Given the description of an element on the screen output the (x, y) to click on. 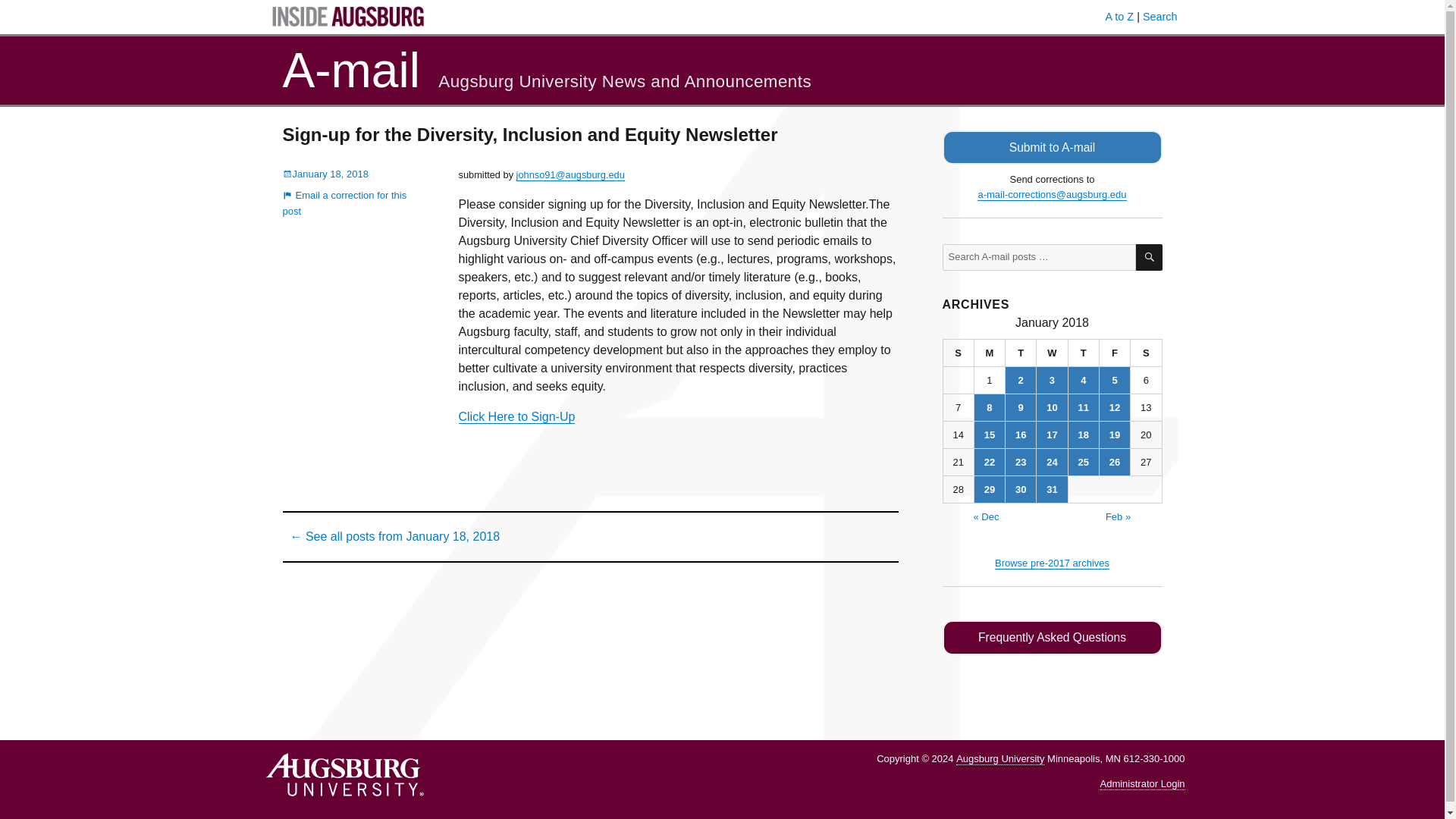
15 (989, 434)
10 (1051, 406)
8 (989, 406)
Wednesday (1051, 352)
January 18, 2018 (325, 173)
Search (1159, 16)
5 (1114, 379)
11 (1083, 406)
19 (1114, 434)
Sunday (958, 352)
Tuesday (1021, 352)
22 (989, 461)
30 (1020, 488)
16 (1020, 434)
A to Z (1119, 16)
